Given the description of an element on the screen output the (x, y) to click on. 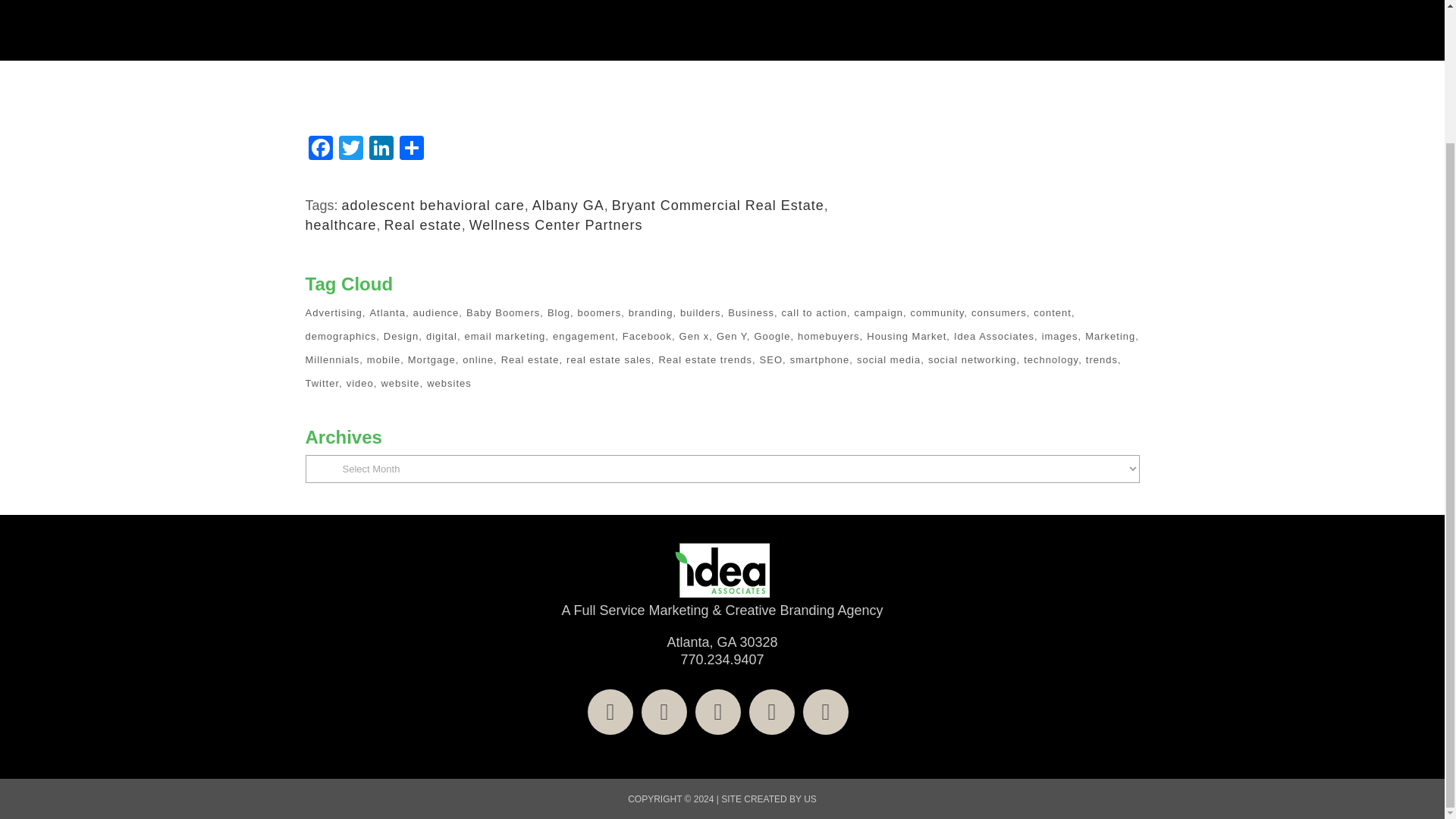
LinkedIn (380, 149)
Business (752, 312)
Advertising (334, 312)
Real estate (422, 224)
call to action (815, 312)
Facebook (319, 149)
Wellness Center Partners (555, 224)
Bryant Commercial Real Estate (717, 205)
content (1053, 312)
Blog (560, 312)
